Given the description of an element on the screen output the (x, y) to click on. 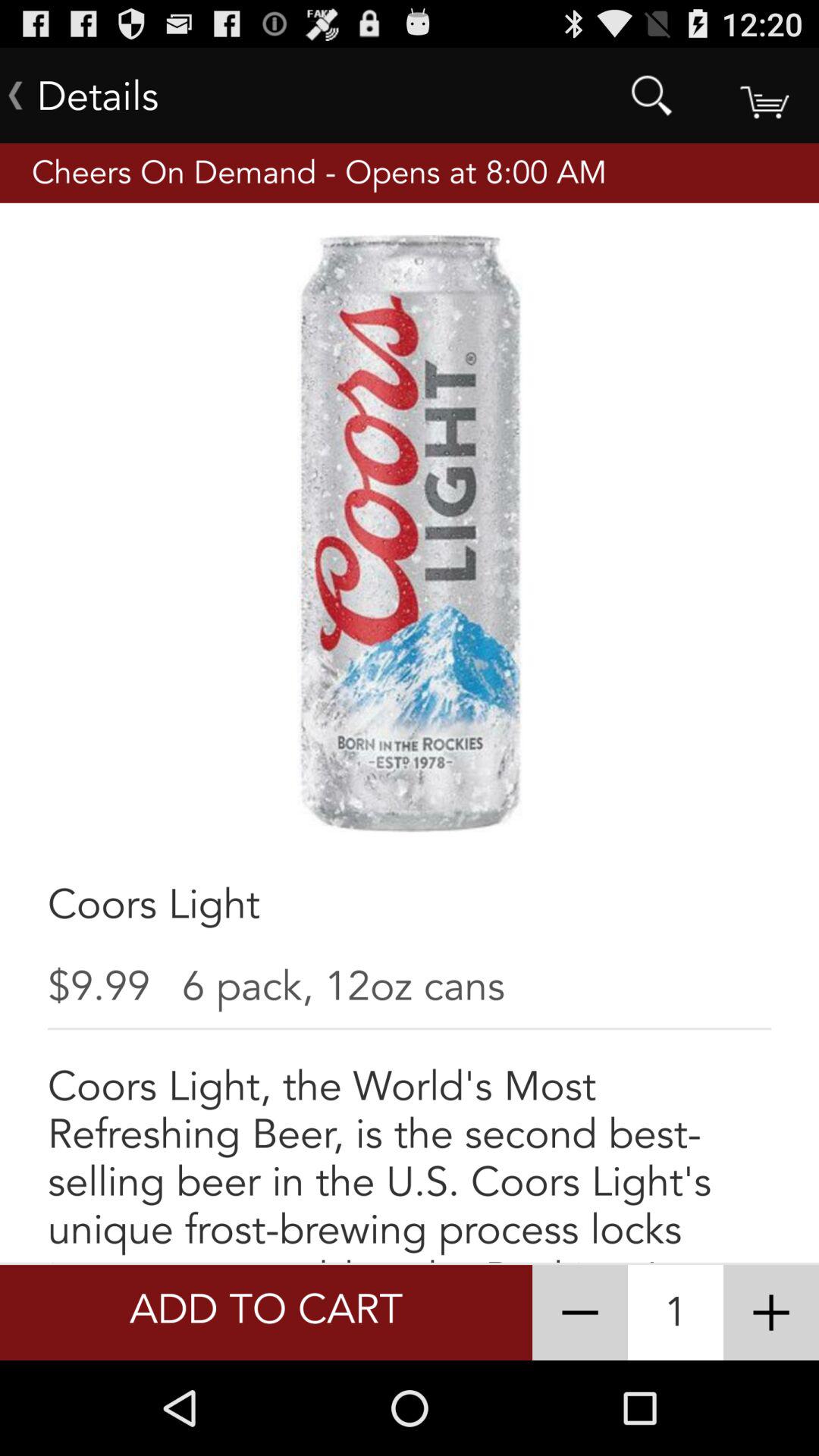
increases the quantity of the item (771, 1312)
